Given the description of an element on the screen output the (x, y) to click on. 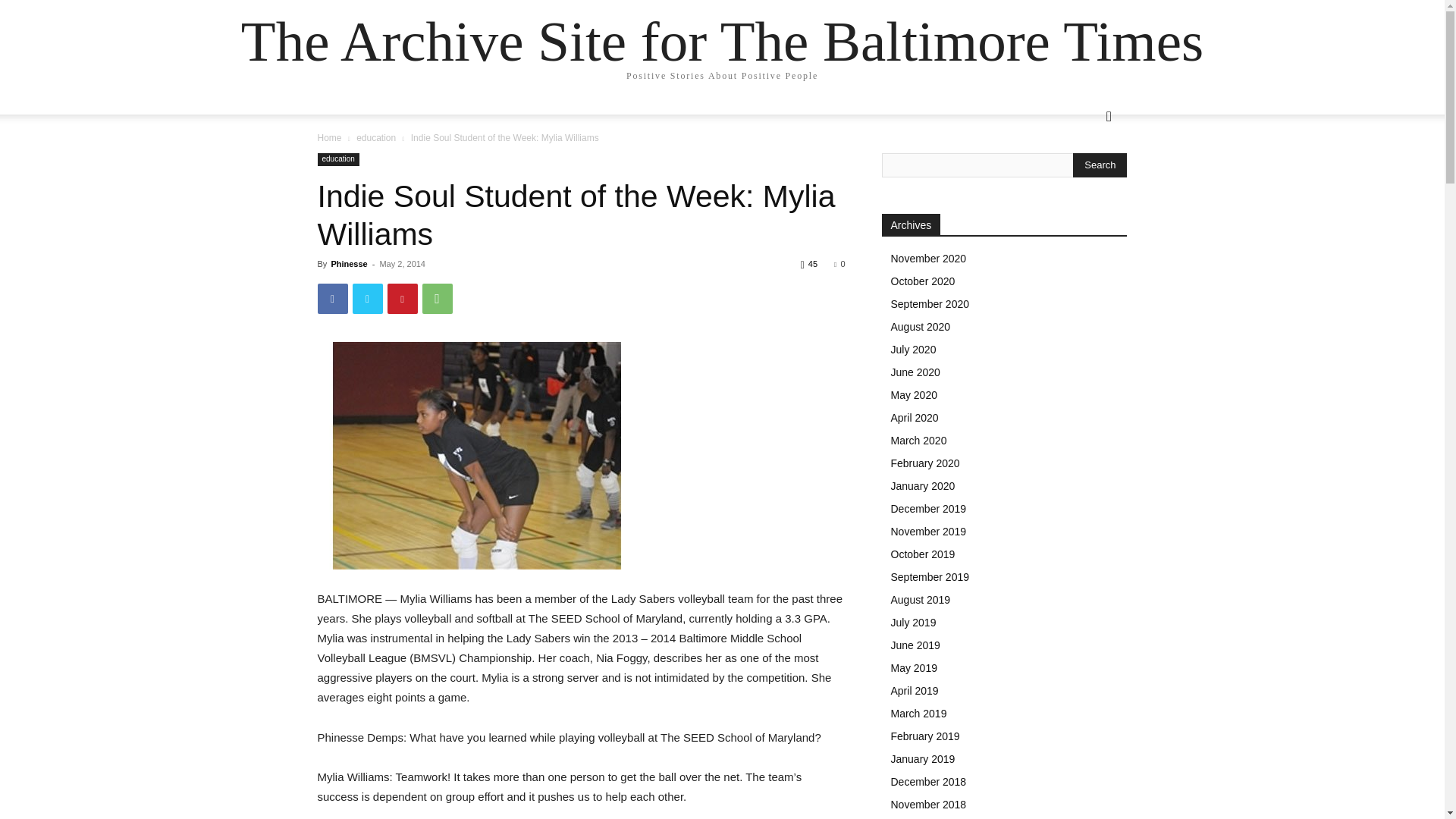
Facebook (332, 298)
WhatsApp (436, 298)
April 2020 (913, 417)
View all posts in education (376, 137)
Search (1099, 165)
July 2020 (912, 349)
October 2020 (922, 281)
Search (1085, 177)
June 2020 (914, 372)
November 2020 (927, 258)
Home (328, 137)
0 (839, 263)
education (376, 137)
Twitter (366, 298)
The Archive Site for The Baltimore Times (722, 41)
